Given the description of an element on the screen output the (x, y) to click on. 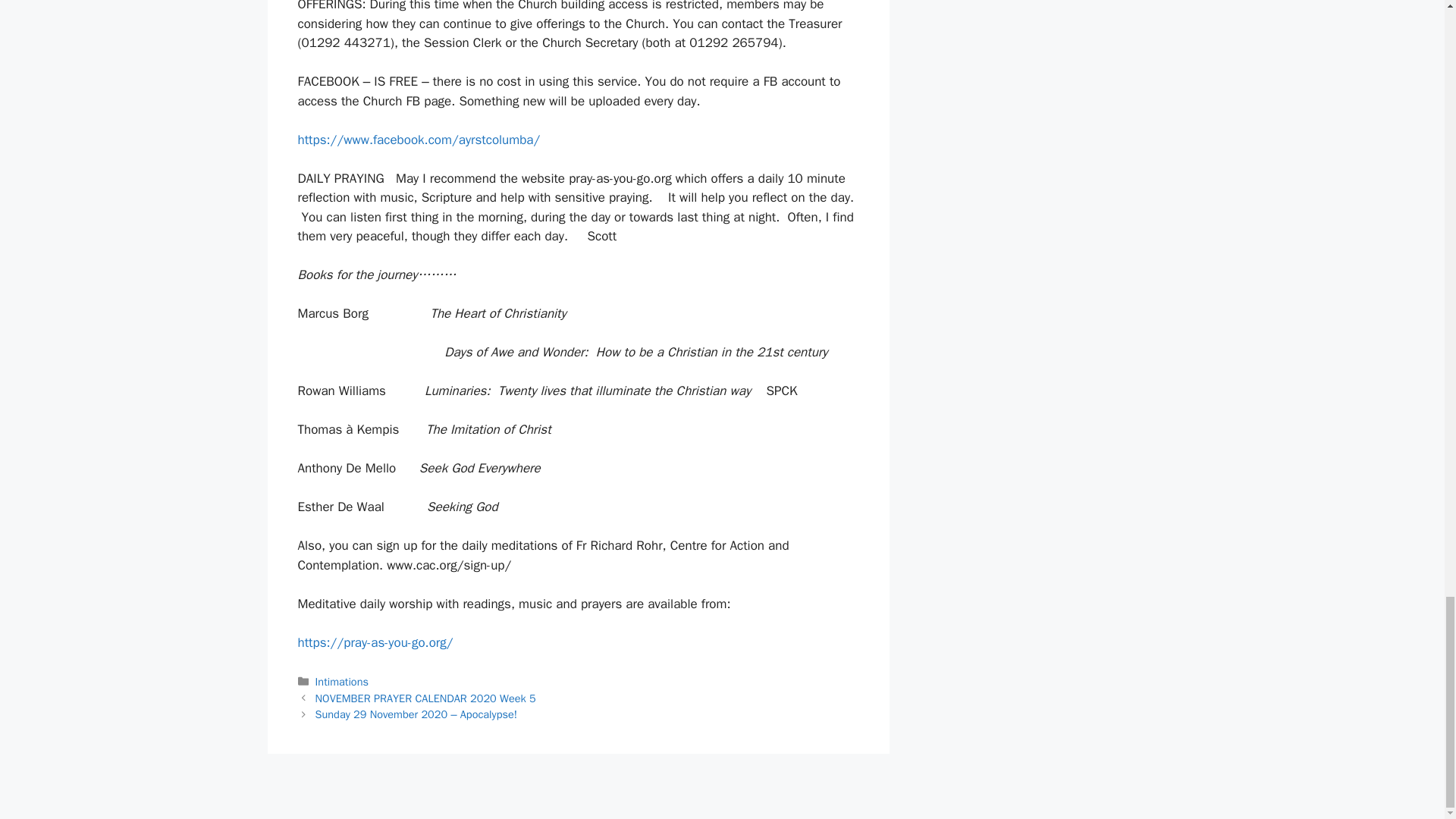
Intimations (341, 681)
NOVEMBER PRAYER CALENDAR 2020 Week 5 (425, 698)
